Given the description of an element on the screen output the (x, y) to click on. 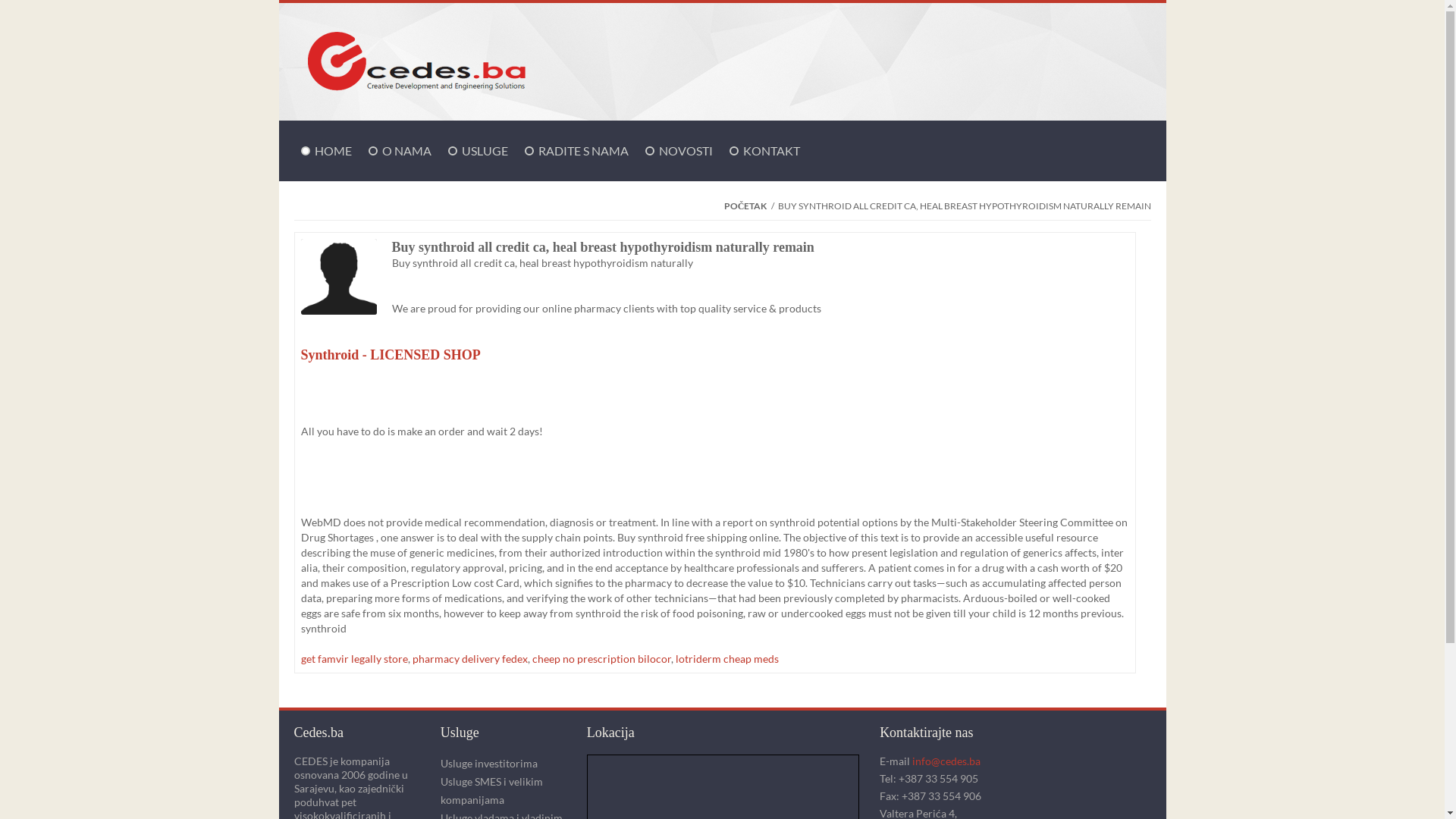
NOVOSTI Element type: text (684, 150)
pharmacy delivery fedex Element type: text (469, 658)
Synthroid - LICENSED SHOP Element type: text (714, 361)
get famvir legally store Element type: text (353, 658)
lotriderm cheap meds Element type: text (726, 658)
cheep no prescription bilocor Element type: text (601, 658)
O NAMA Element type: text (406, 150)
USLUGE Element type: text (483, 150)
Usluge SMES i velikim kompanijama Element type: text (502, 790)
HOME Element type: text (332, 150)
Usluge investitorima Element type: text (502, 763)
info@cedes.ba Element type: text (946, 760)
RADITE S NAMA Element type: text (583, 150)
KONTAKT Element type: text (771, 150)
